Given the description of an element on the screen output the (x, y) to click on. 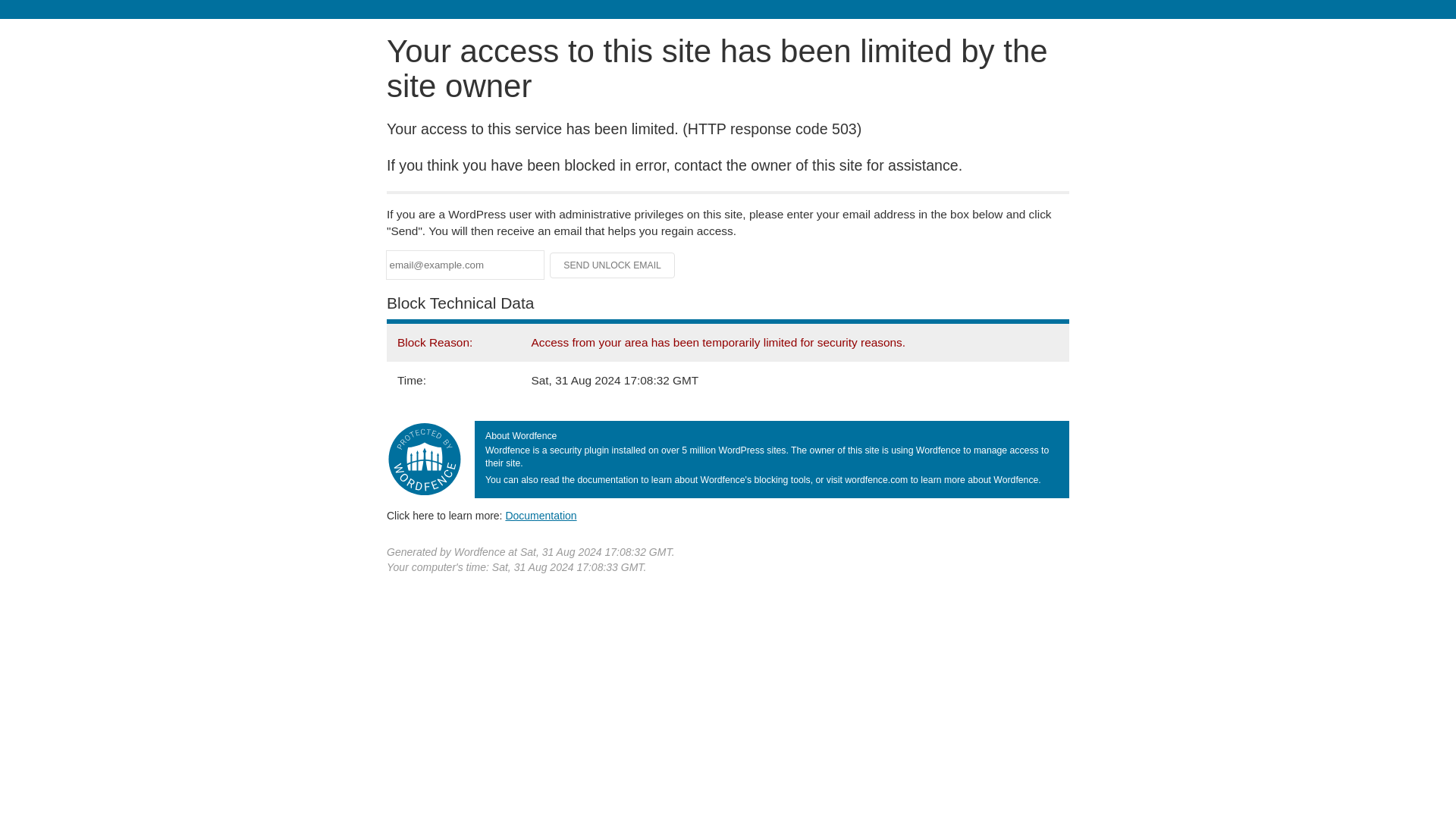
Documentation (540, 515)
Send Unlock Email (612, 265)
Send Unlock Email (612, 265)
